Given the description of an element on the screen output the (x, y) to click on. 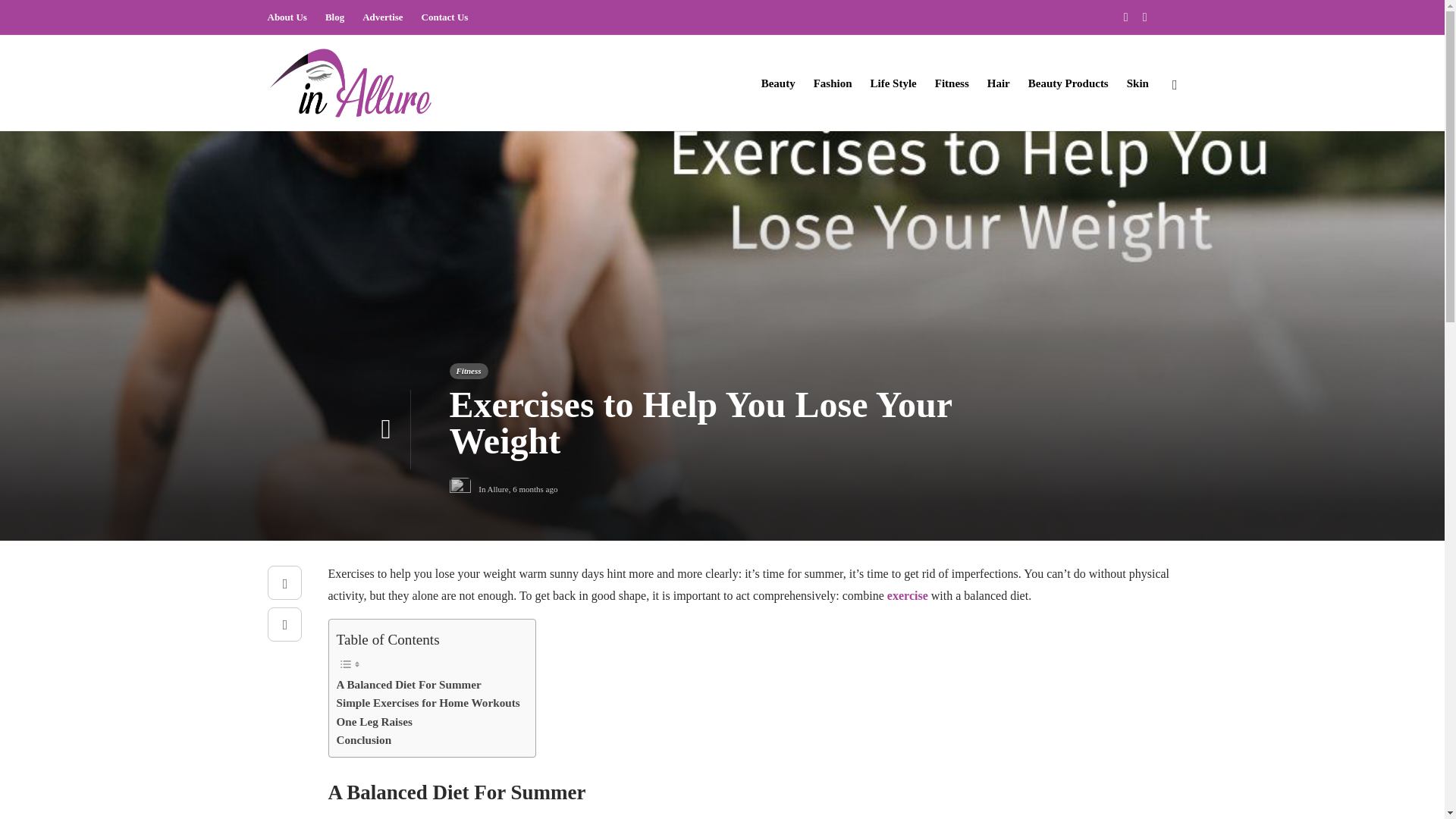
In Allure (493, 488)
exercise (907, 594)
A Balanced Diet For Summer (408, 684)
Contact Us (445, 17)
About Us (285, 17)
Advertise (382, 17)
6 months ago (534, 488)
A Balanced Diet For Summer (408, 684)
Conclusion (363, 740)
Simple Exercises for Home Workouts (427, 702)
